Given the description of an element on the screen output the (x, y) to click on. 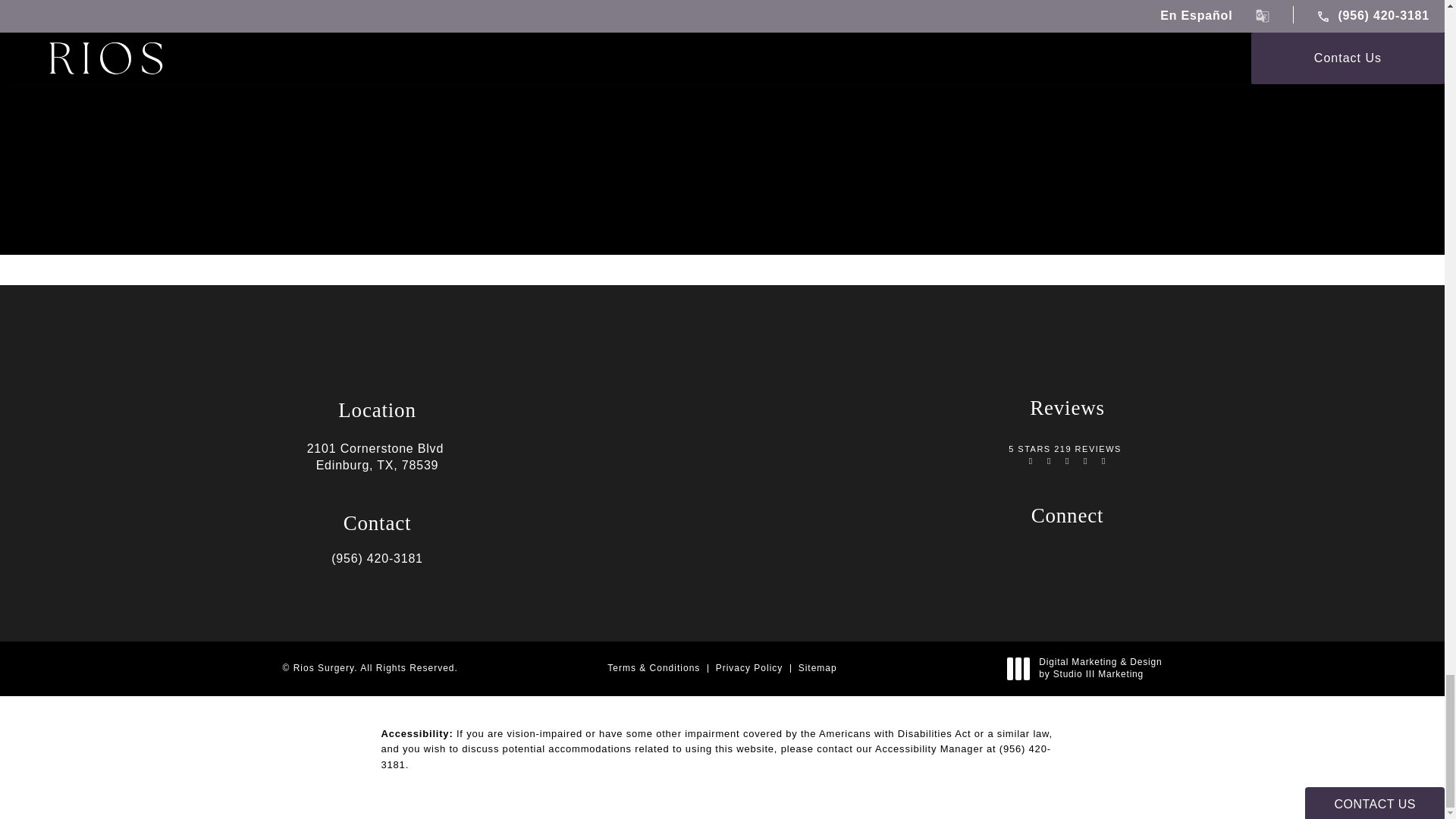
Rios Surgery on Youtube (1098, 558)
Rios Surgery on Instagram (1038, 558)
Rios Surgery on Facebook (1069, 558)
